Given the description of an element on the screen output the (x, y) to click on. 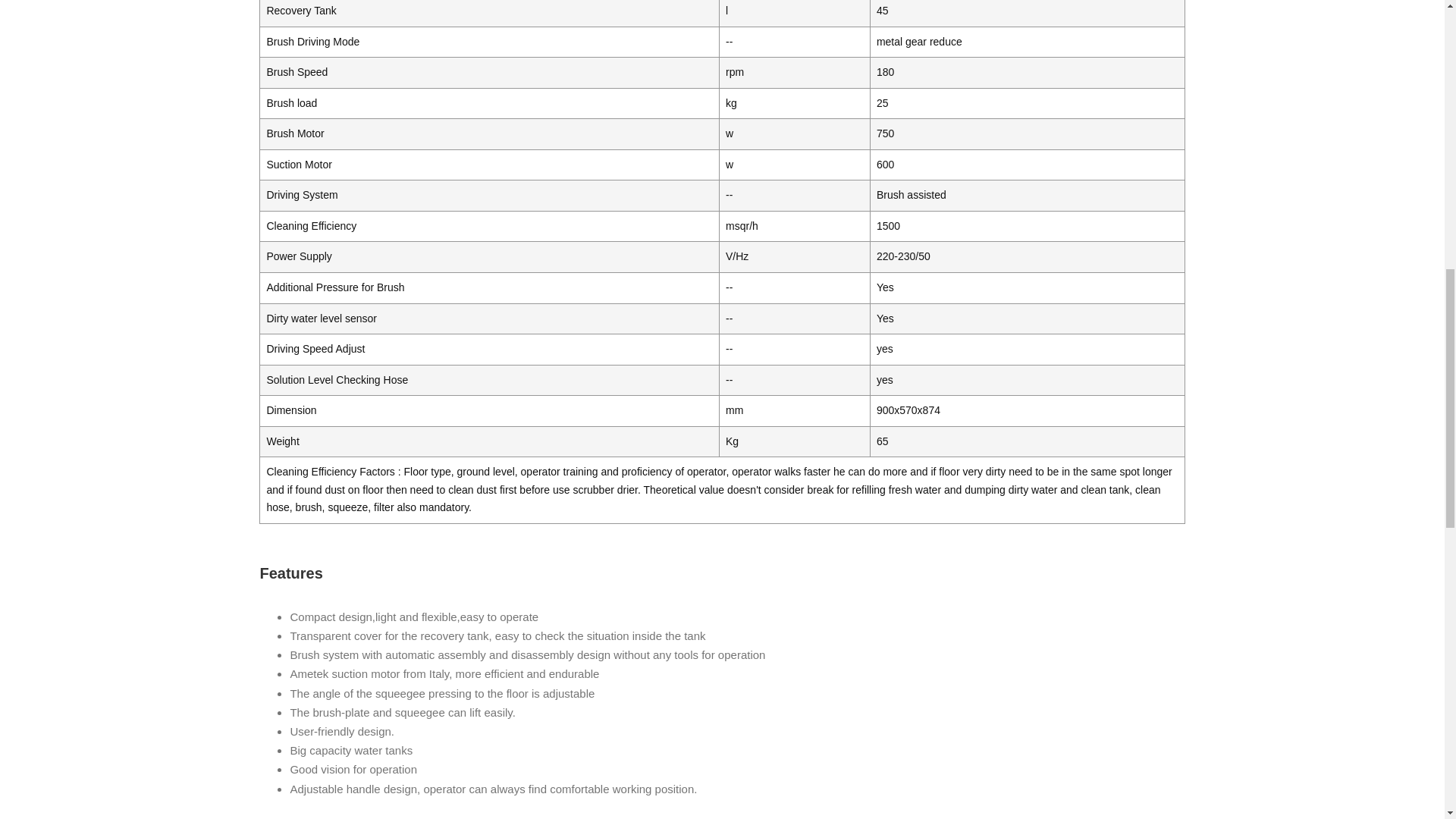
Features (721, 573)
